Given the description of an element on the screen output the (x, y) to click on. 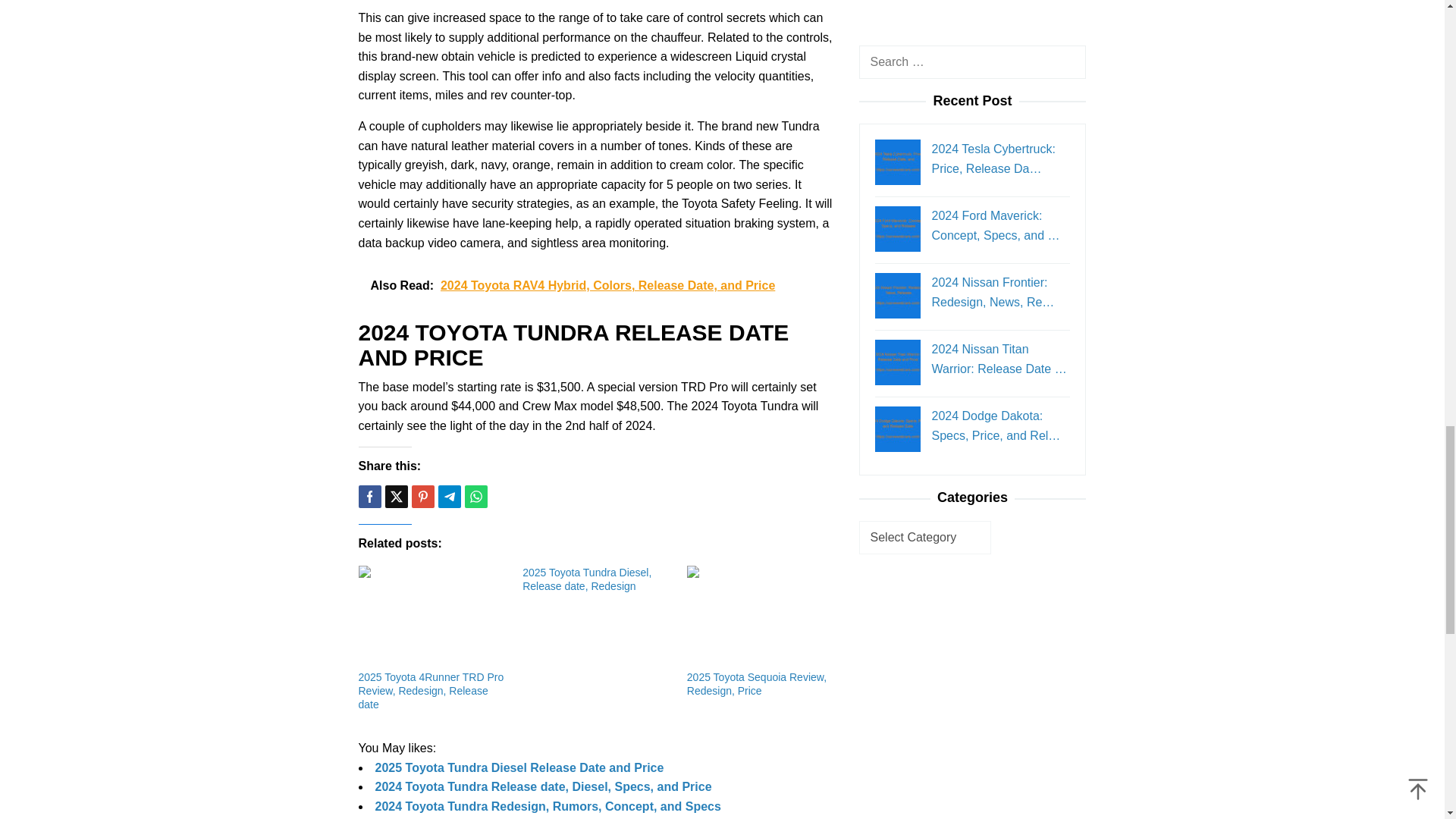
Share this (369, 496)
Telegram Share (449, 496)
Tweet this (396, 496)
Pin this (421, 496)
